Given the description of an element on the screen output the (x, y) to click on. 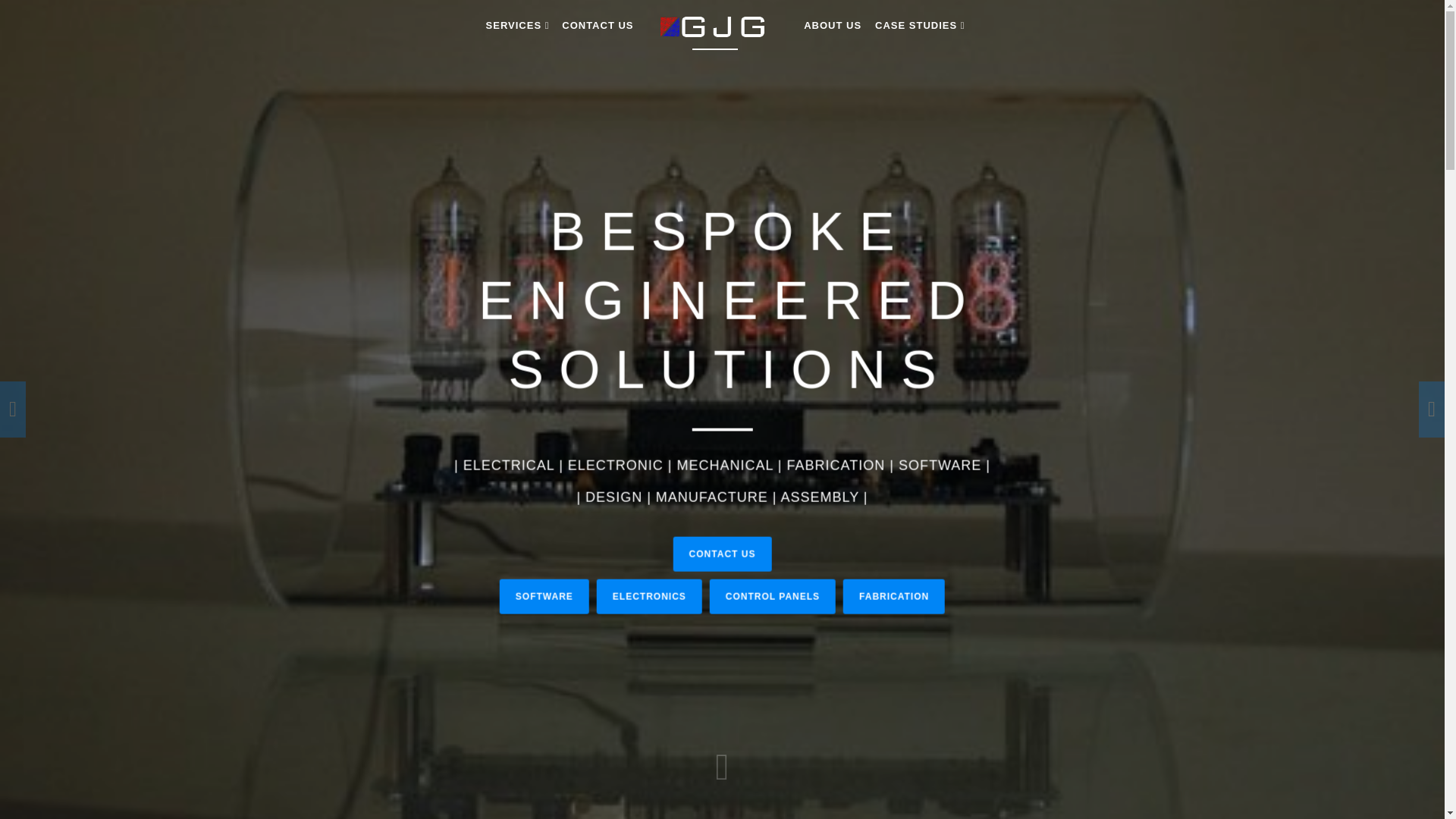
ABOUT US (832, 24)
CASE STUDIES (919, 24)
SERVICES (516, 24)
FABRICATION (893, 678)
CONTACT US (596, 24)
CONTROL PANELS (772, 679)
ELECTRONICS (648, 680)
